Given the description of an element on the screen output the (x, y) to click on. 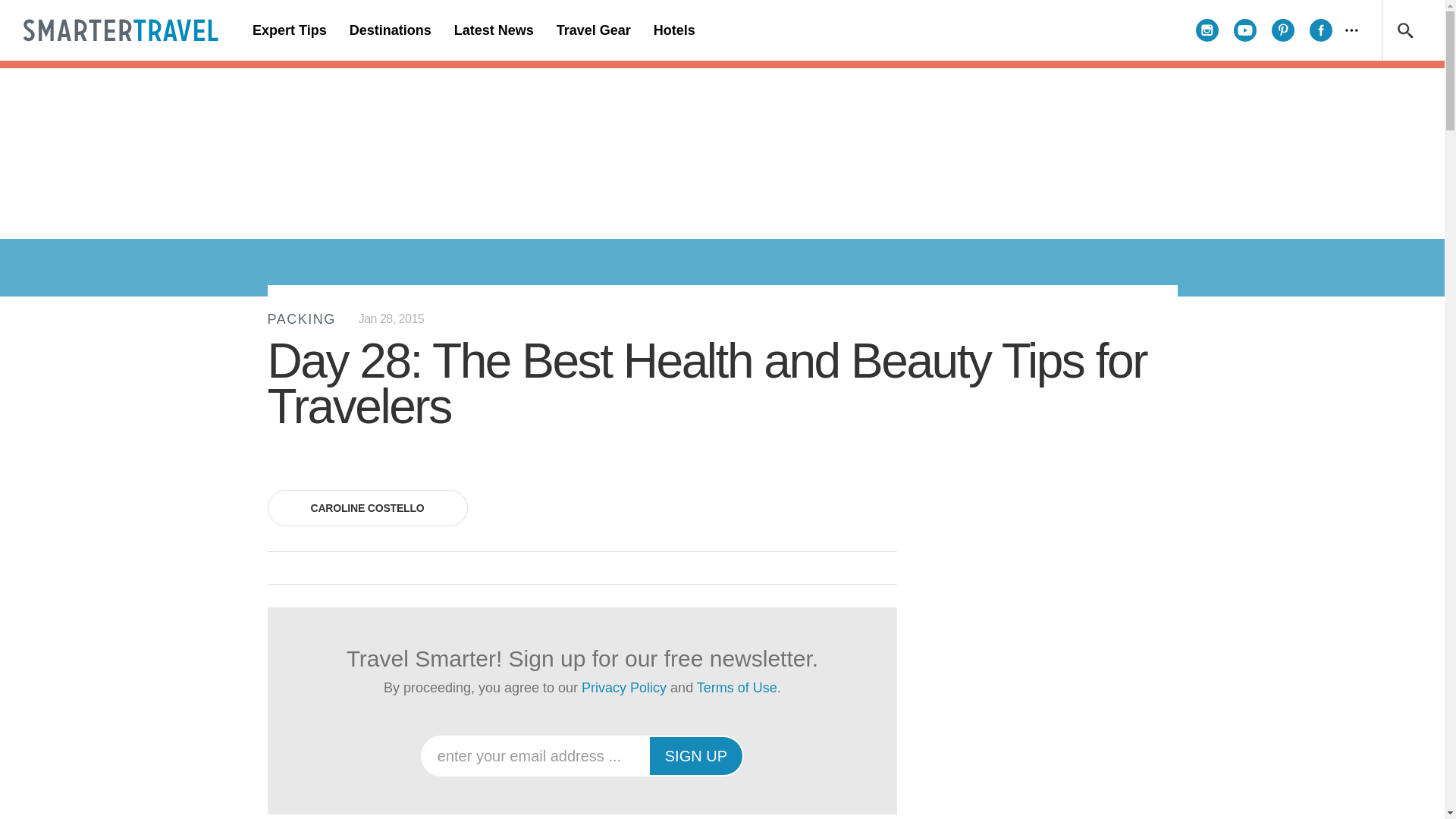
Expert Tips (289, 30)
Hotels (674, 30)
Latest News (493, 30)
Travel Gear (593, 30)
Destinations (389, 30)
